Given the description of an element on the screen output the (x, y) to click on. 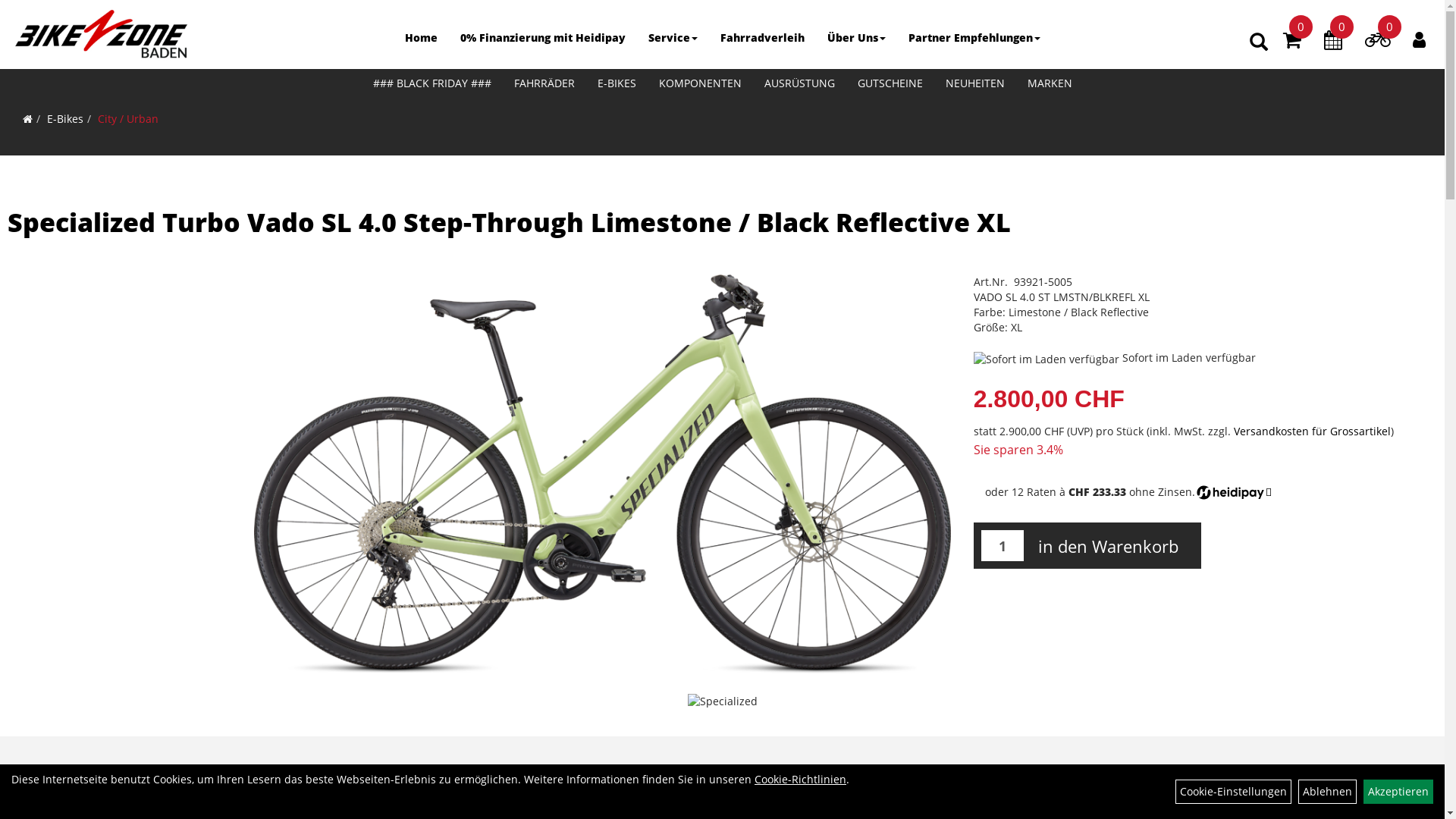
0 Element type: text (1292, 42)
Varianten des Artikels Element type: text (710, 792)
Bike Zone Element type: hover (100, 33)
NEUHEITEN Element type: text (975, 83)
in den Warenkorb Element type: text (1107, 545)
Fragen zum Artikel Element type: text (855, 792)
City / Urban Element type: text (127, 118)
Specialized Element type: hover (721, 701)
Home Element type: text (420, 37)
0 Element type: text (1333, 42)
### BLACK FRIDAY ### Element type: text (431, 83)
0 Element type: text (1377, 42)
Partner Empfehlungen Element type: text (973, 37)
GUTSCHEINE Element type: text (890, 83)
Produktdetails Element type: text (578, 792)
KOMPONENTEN Element type: text (700, 83)
Akzeptieren Element type: text (1398, 791)
Ablehnen Element type: text (1327, 791)
Fahrradverleih Element type: text (761, 37)
0% Finanzierung mit Heidipay Element type: text (542, 37)
E-Bikes Element type: text (65, 118)
Service Element type: text (673, 37)
Cookie-Einstellungen Element type: text (1233, 791)
MARKEN Element type: text (1049, 83)
E-BIKES Element type: text (615, 83)
Cookie-Richtlinien Element type: text (800, 778)
